Given the description of an element on the screen output the (x, y) to click on. 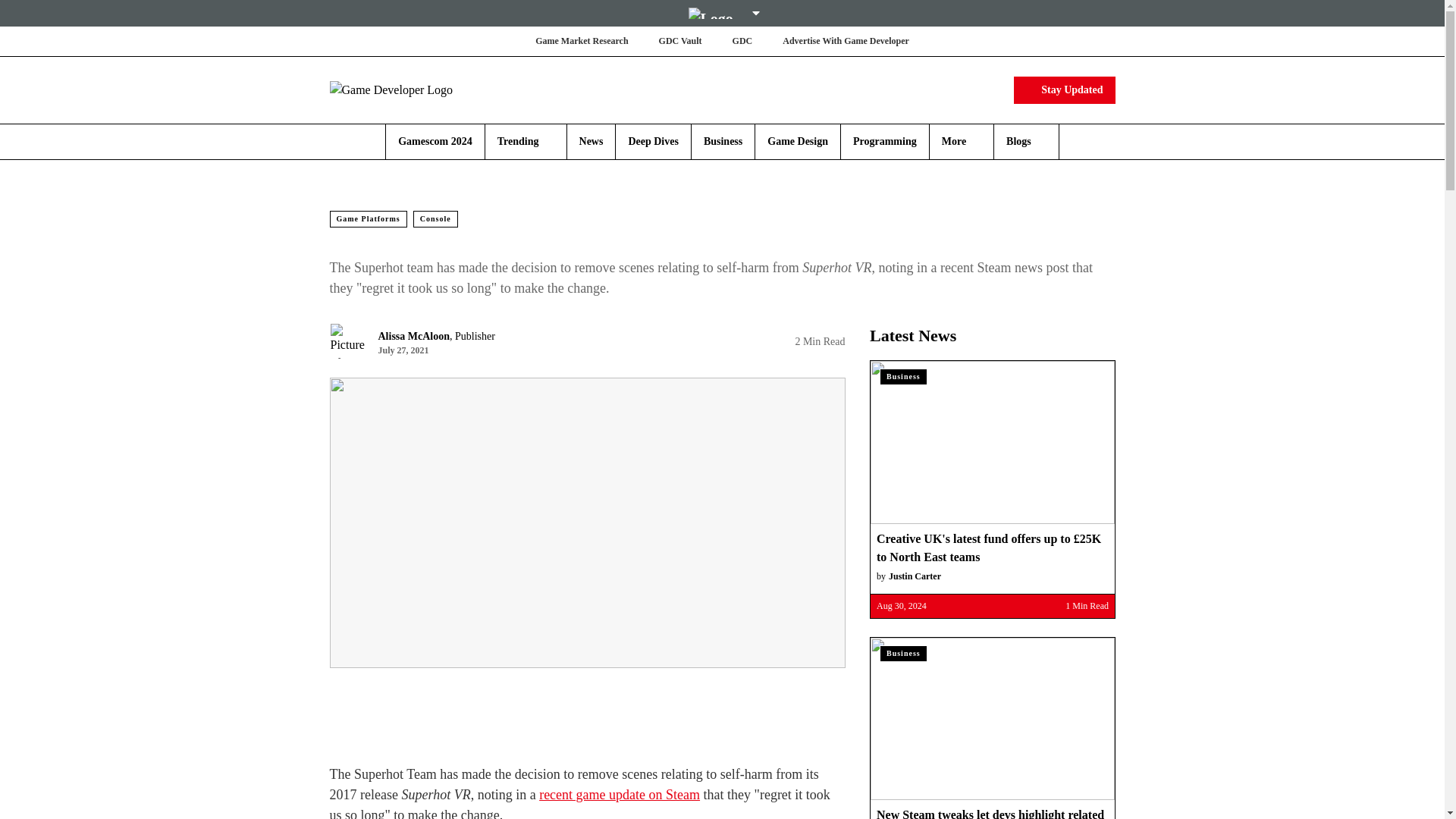
Game Developer Logo (419, 90)
GDC (742, 41)
Business (722, 141)
Deep Dives (652, 141)
GDC Vault (680, 41)
Game Design (797, 141)
Advertise With Game Developer (845, 41)
Gamescom 2024 (434, 141)
Programming (885, 141)
Game Market Research (581, 41)
